Given the description of an element on the screen output the (x, y) to click on. 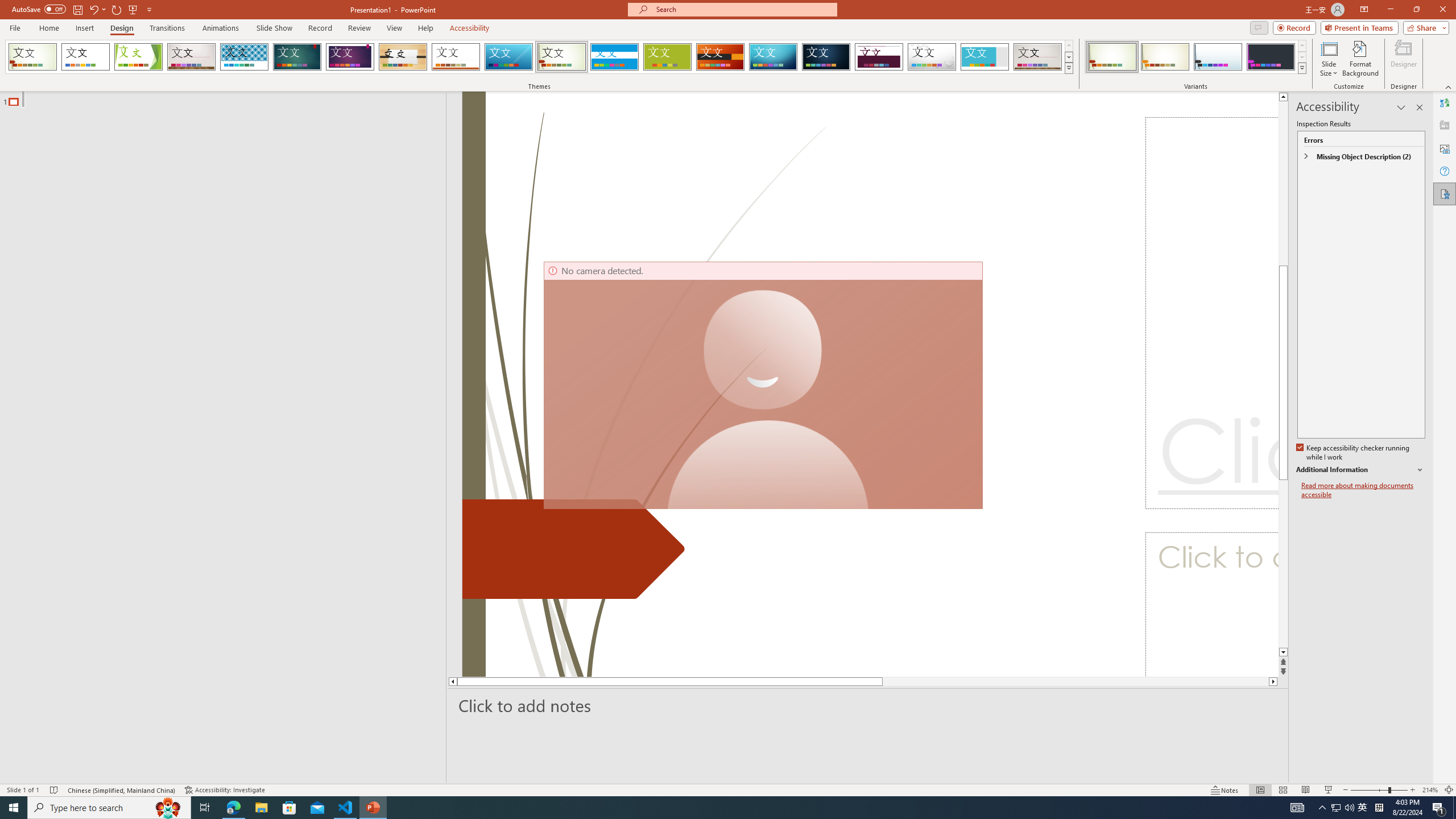
Wisp (561, 56)
Wisp Variant 2 (1164, 56)
Read more about making documents accessible (1363, 489)
Outline (227, 99)
Title TextBox (1211, 313)
Banded (614, 56)
Ion Boardroom (350, 56)
